Given the description of an element on the screen output the (x, y) to click on. 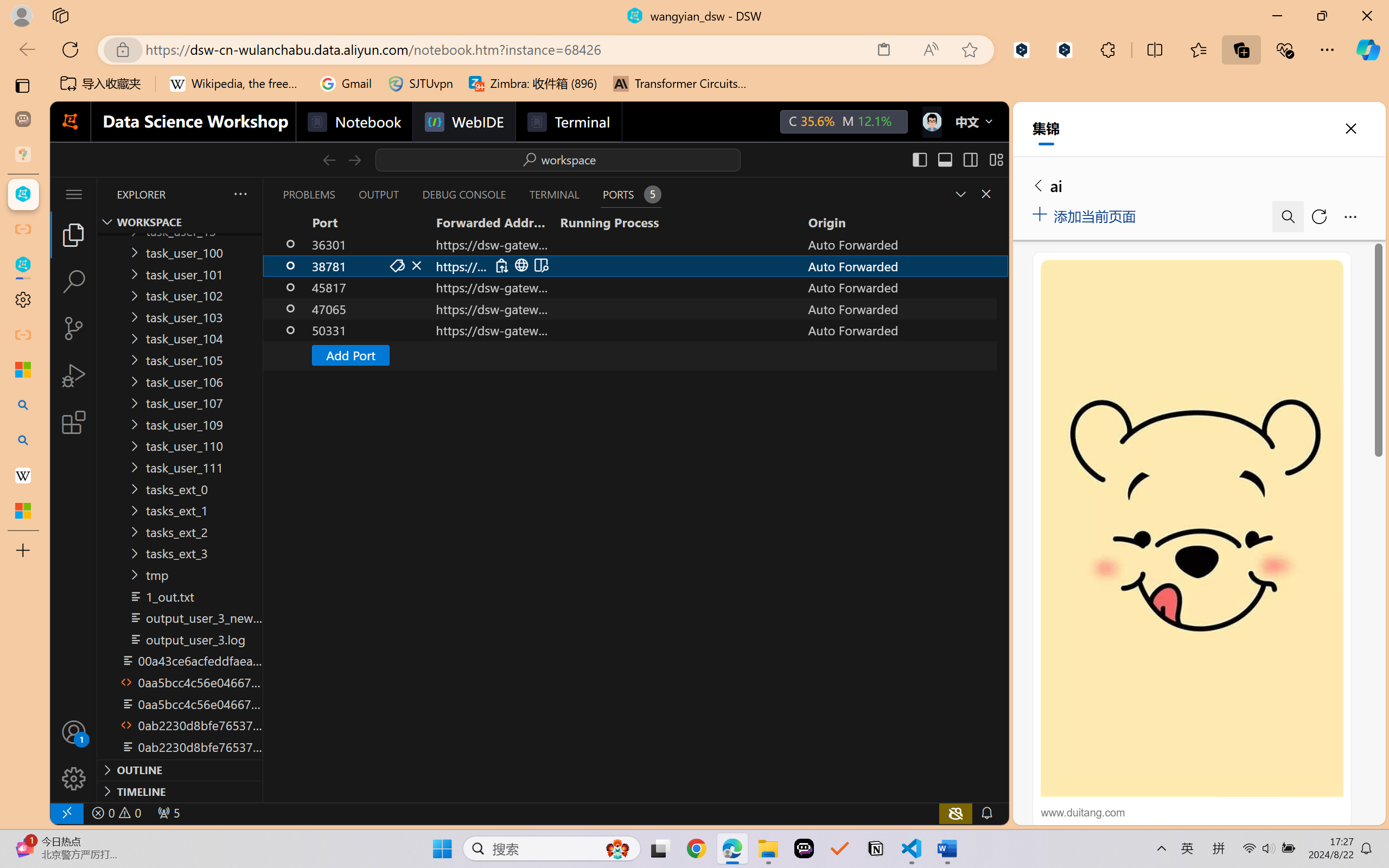
Copy Local Address (Ctrl+C) (501, 265)
Search (Ctrl+Shift+F) (73, 281)
Wikipedia, the free encyclopedia (236, 83)
Go Forward (Alt+RightArrow) (354, 159)
Title actions (957, 159)
No Problems (115, 812)
